Given the description of an element on the screen output the (x, y) to click on. 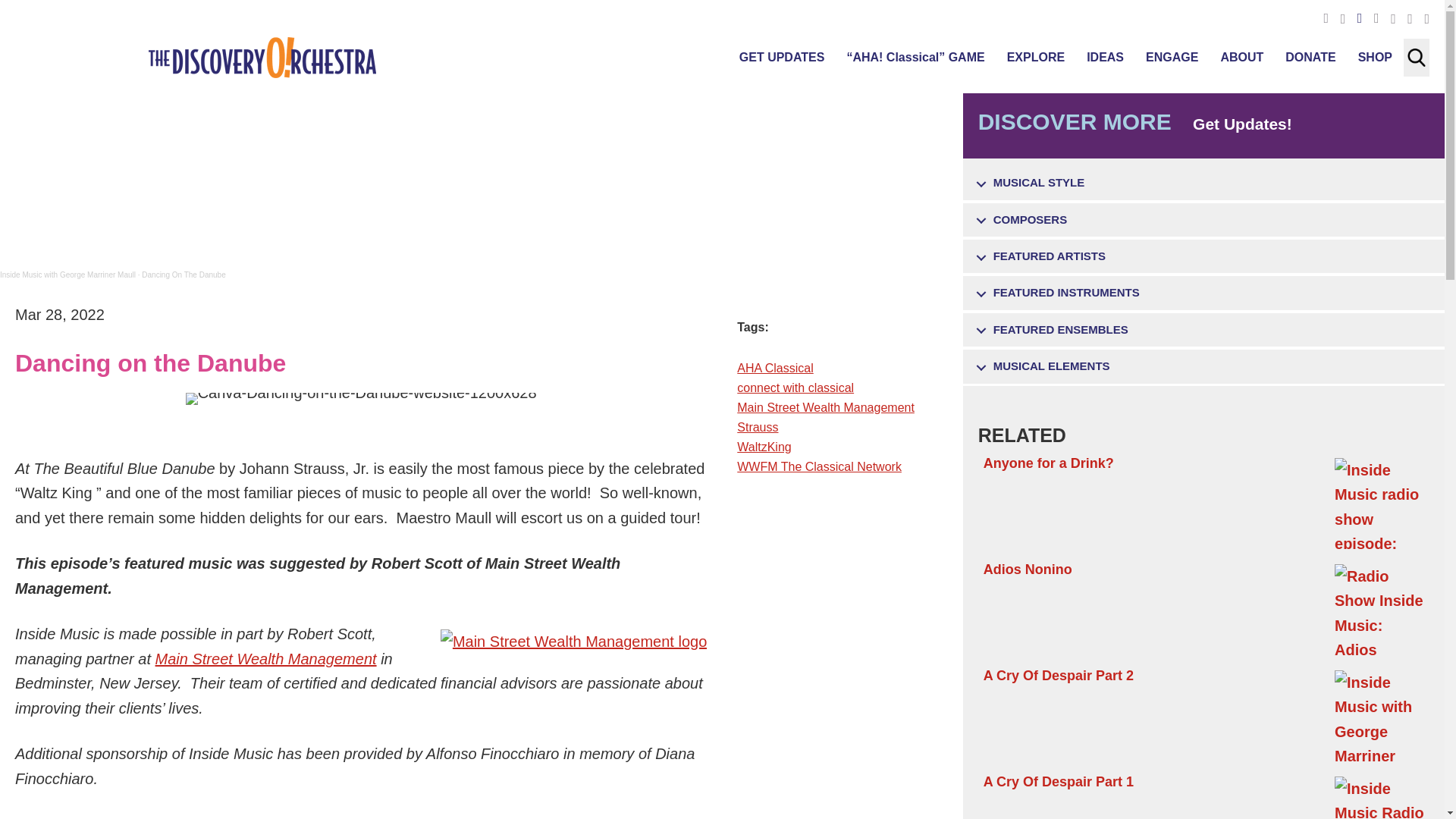
Anyone for a Drink? (1203, 502)
ABOUT (1241, 56)
Adios Nonino (1203, 608)
EXPLORE (1035, 56)
ENGAGE (1171, 56)
Canva-Dancing-on-the-Danube-website-1200x628 (361, 398)
GET UPDATES (782, 56)
IDEAS (1104, 56)
